Given the description of an element on the screen output the (x, y) to click on. 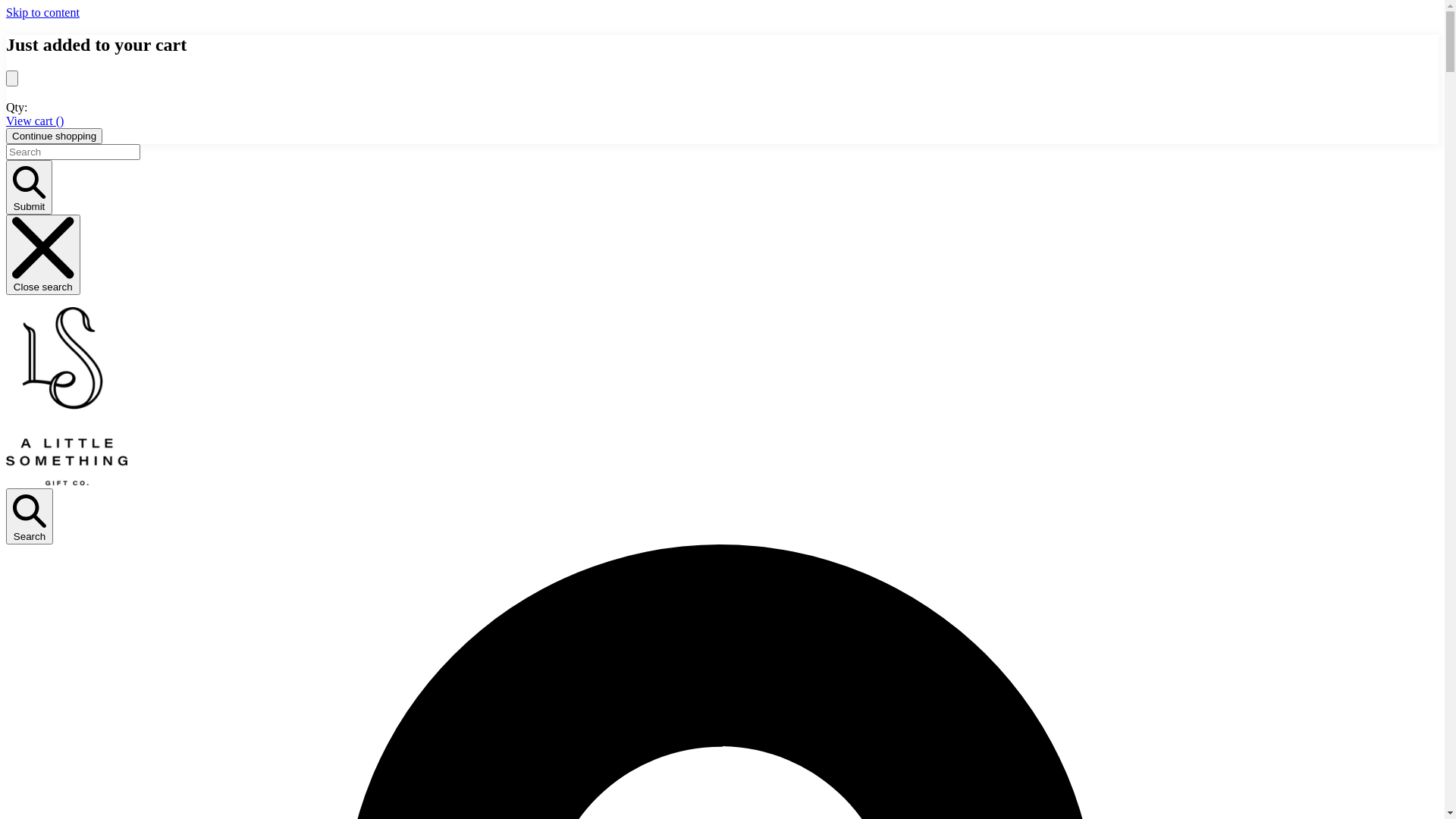
Close search Element type: text (43, 254)
Skip to content Element type: text (42, 12)
Continue shopping Element type: text (54, 136)
Search Element type: text (29, 516)
View cart () Element type: text (34, 120)
Submit Element type: text (29, 187)
